Given the description of an element on the screen output the (x, y) to click on. 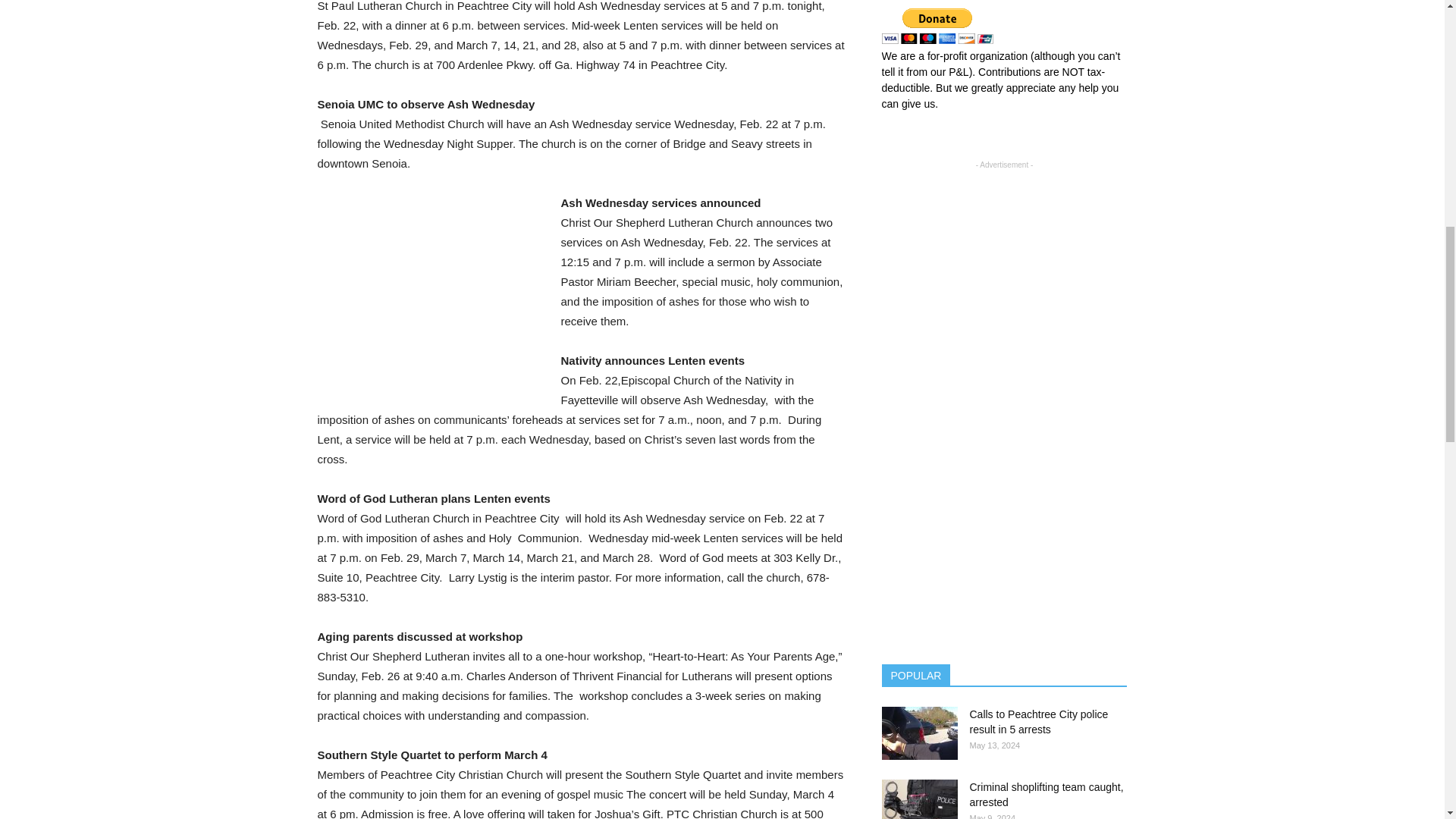
3rd party ad content (430, 294)
Calls to Peachtree City police result in 5 arrests (1038, 721)
Calls to Peachtree City police result in 5 arrests (918, 733)
PayPal - The safer, easier way to pay online! (936, 26)
